Given the description of an element on the screen output the (x, y) to click on. 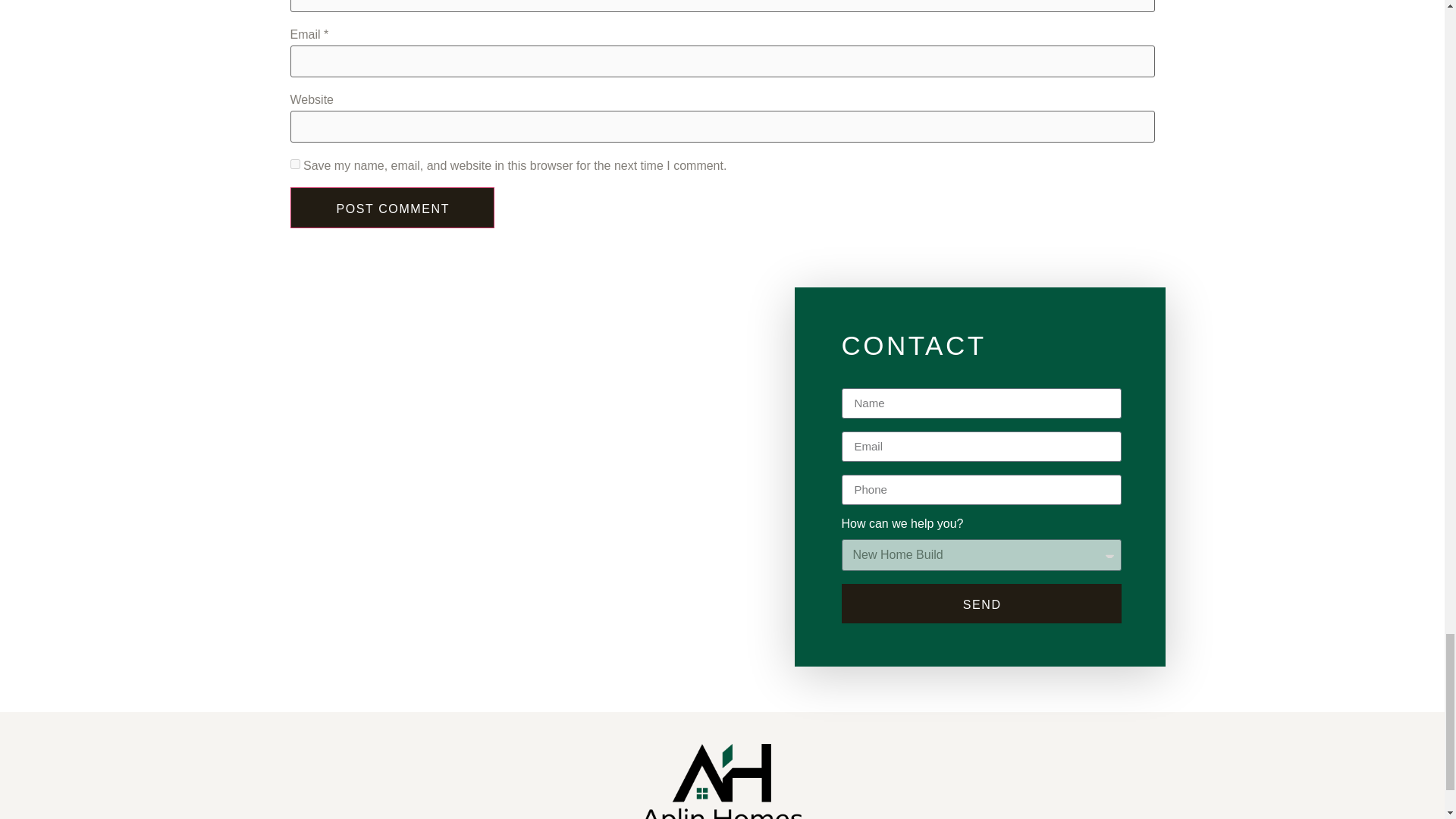
yes (294, 163)
207 That Way St. Ste. A2 Lake Jackson, TX 77566 (512, 542)
Post Comment (392, 207)
SEND (981, 603)
Post Comment (392, 207)
